Given the description of an element on the screen output the (x, y) to click on. 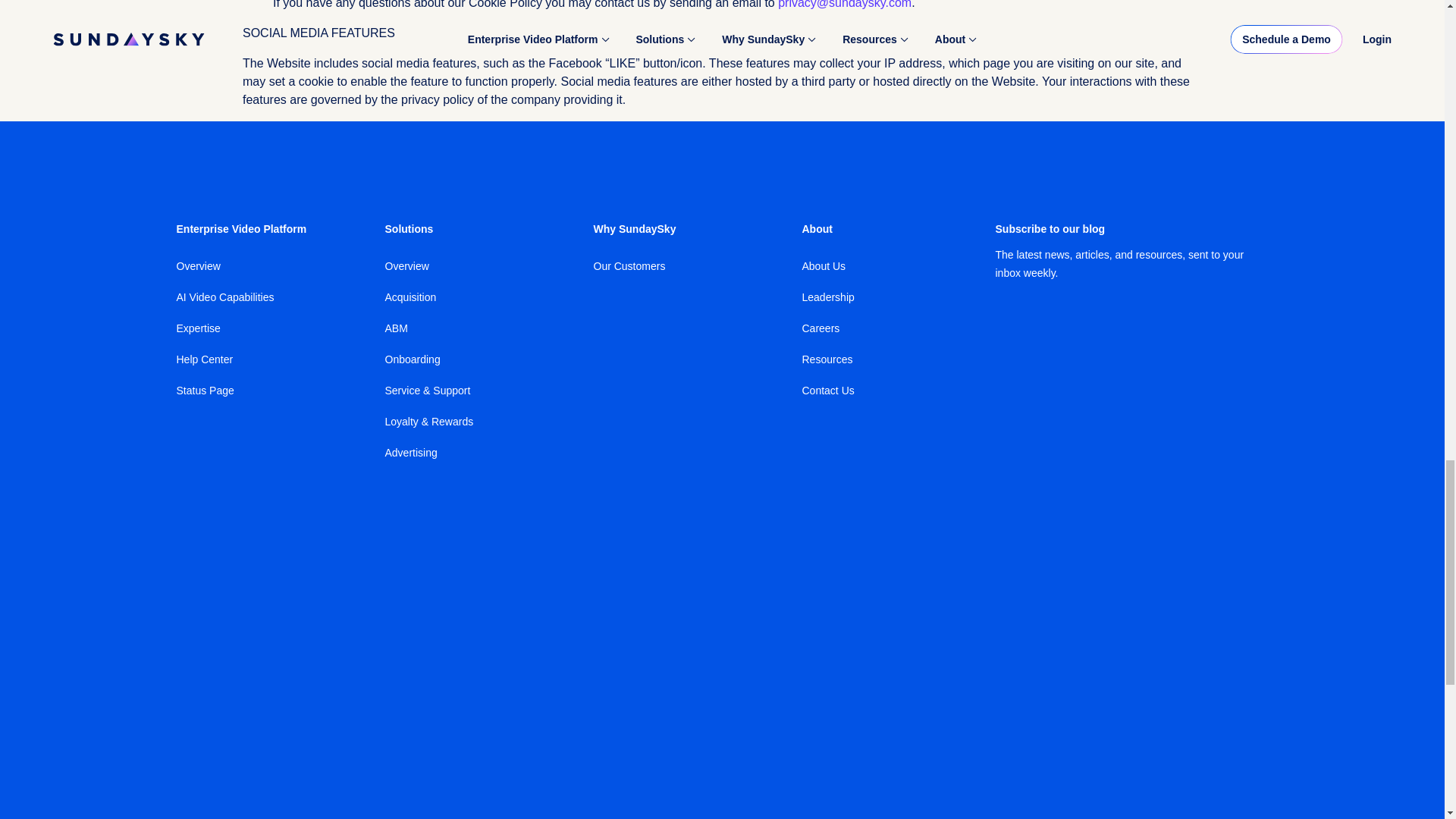
Overview (197, 265)
AI Video Capabilities (224, 297)
Expertise (197, 328)
Help Center (204, 358)
Enterprise Video Platform (240, 228)
Status Page (204, 390)
